Given the description of an element on the screen output the (x, y) to click on. 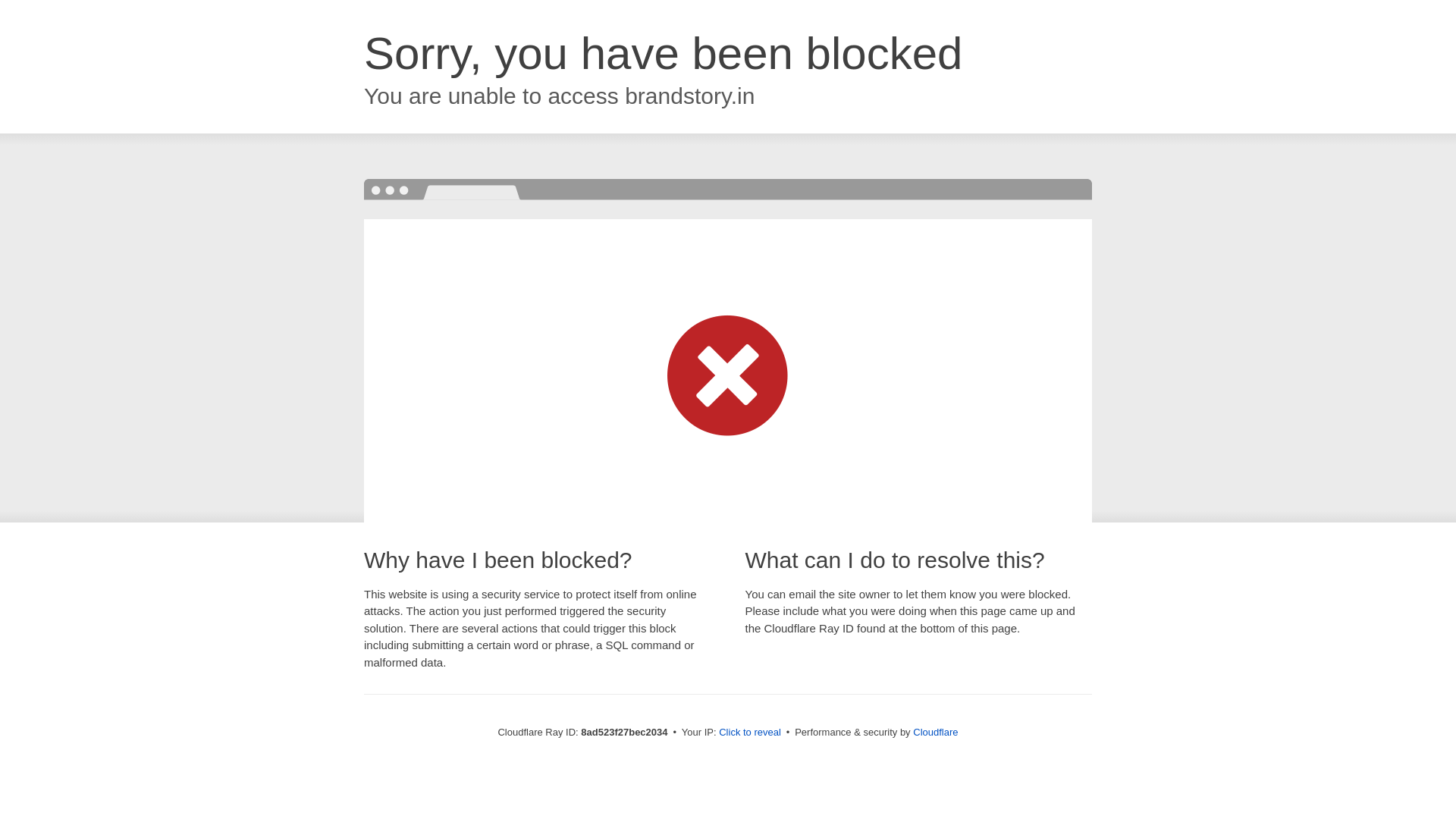
Cloudflare (935, 731)
Click to reveal (749, 732)
